Given the description of an element on the screen output the (x, y) to click on. 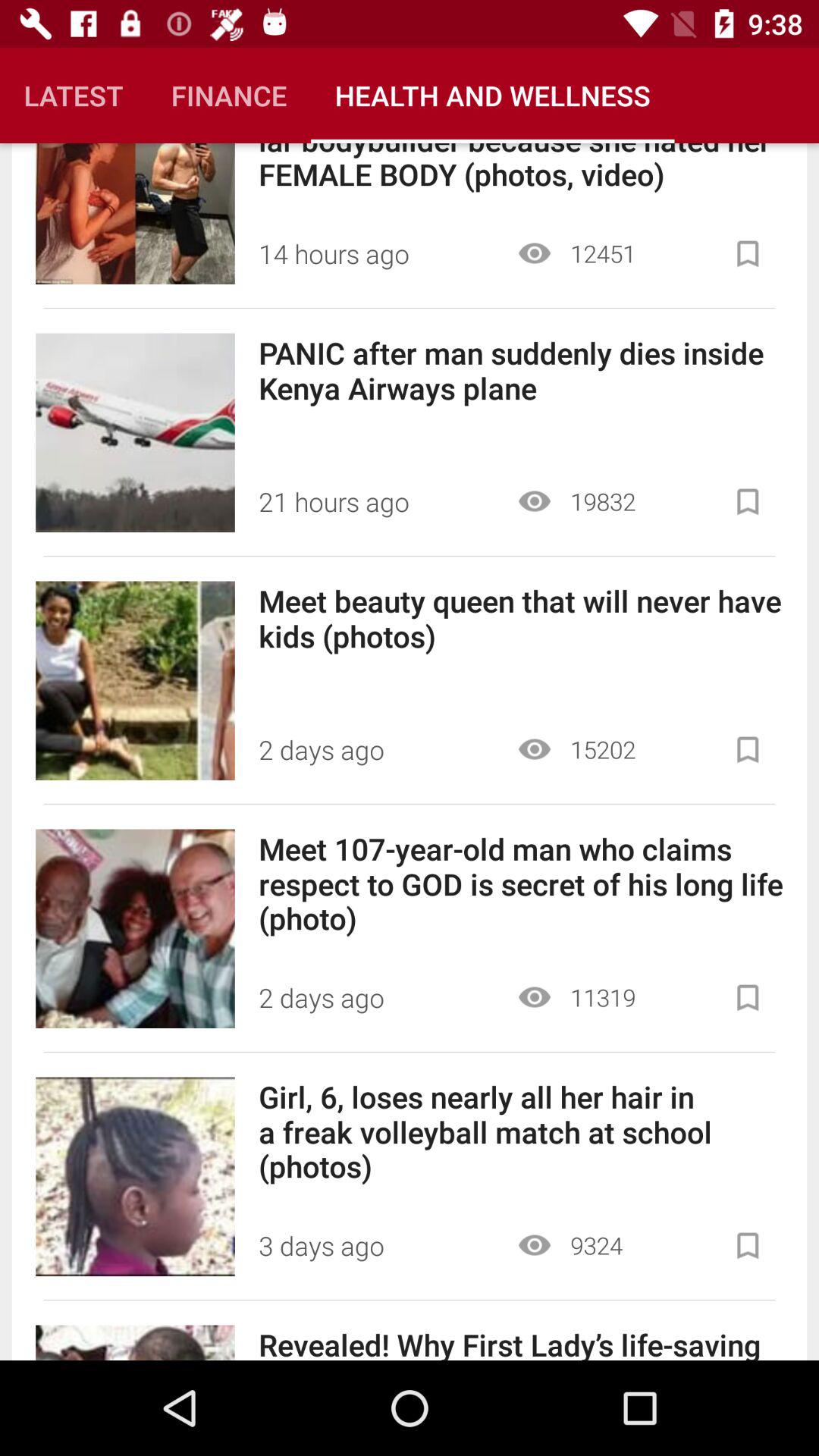
bookmark video (747, 1245)
